Given the description of an element on the screen output the (x, y) to click on. 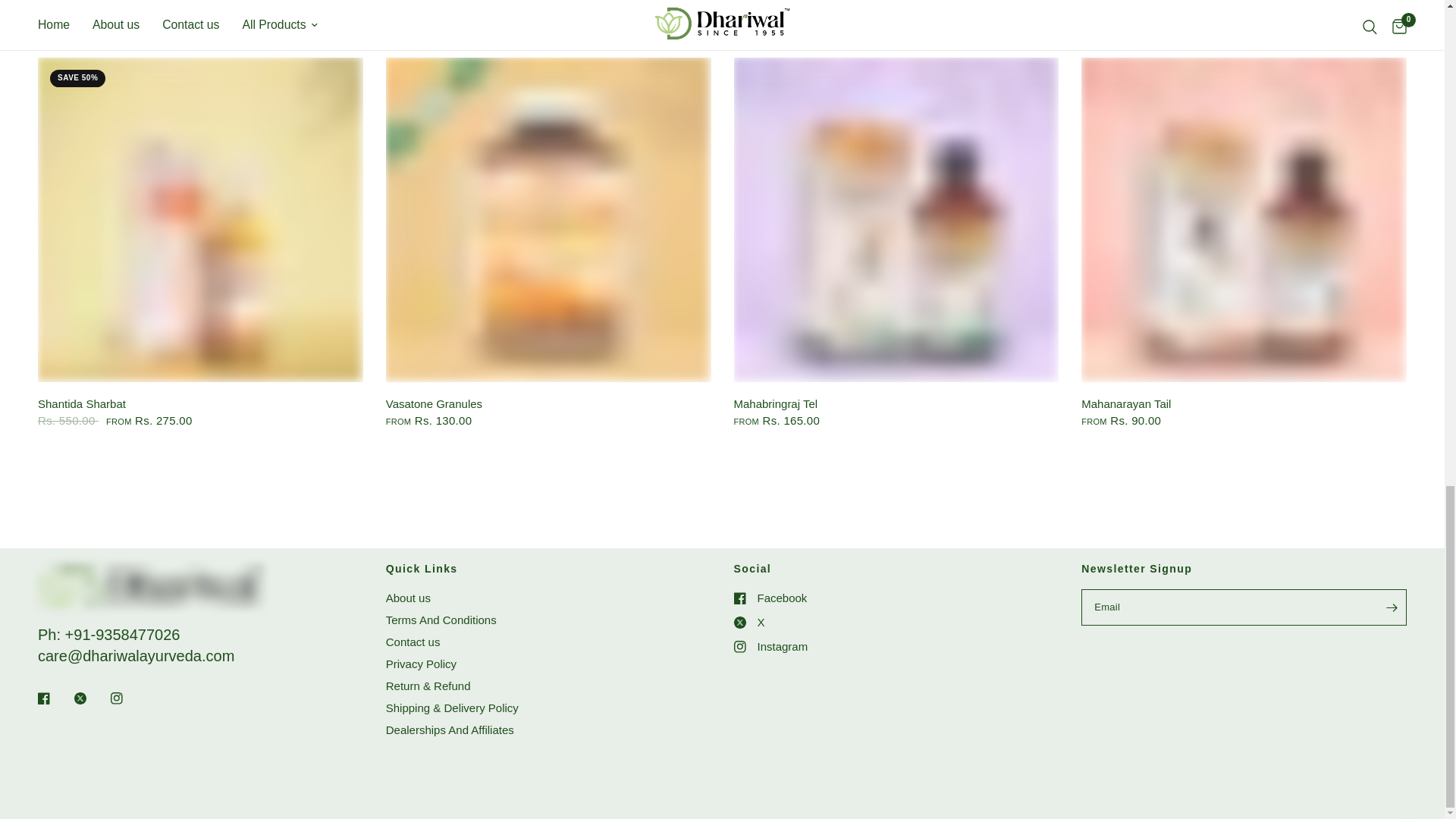
Shantida Sharbat (199, 220)
Vasatone Granules (548, 220)
Vasatone Granules (548, 404)
Shantida Sharbat (199, 404)
